Given the description of an element on the screen output the (x, y) to click on. 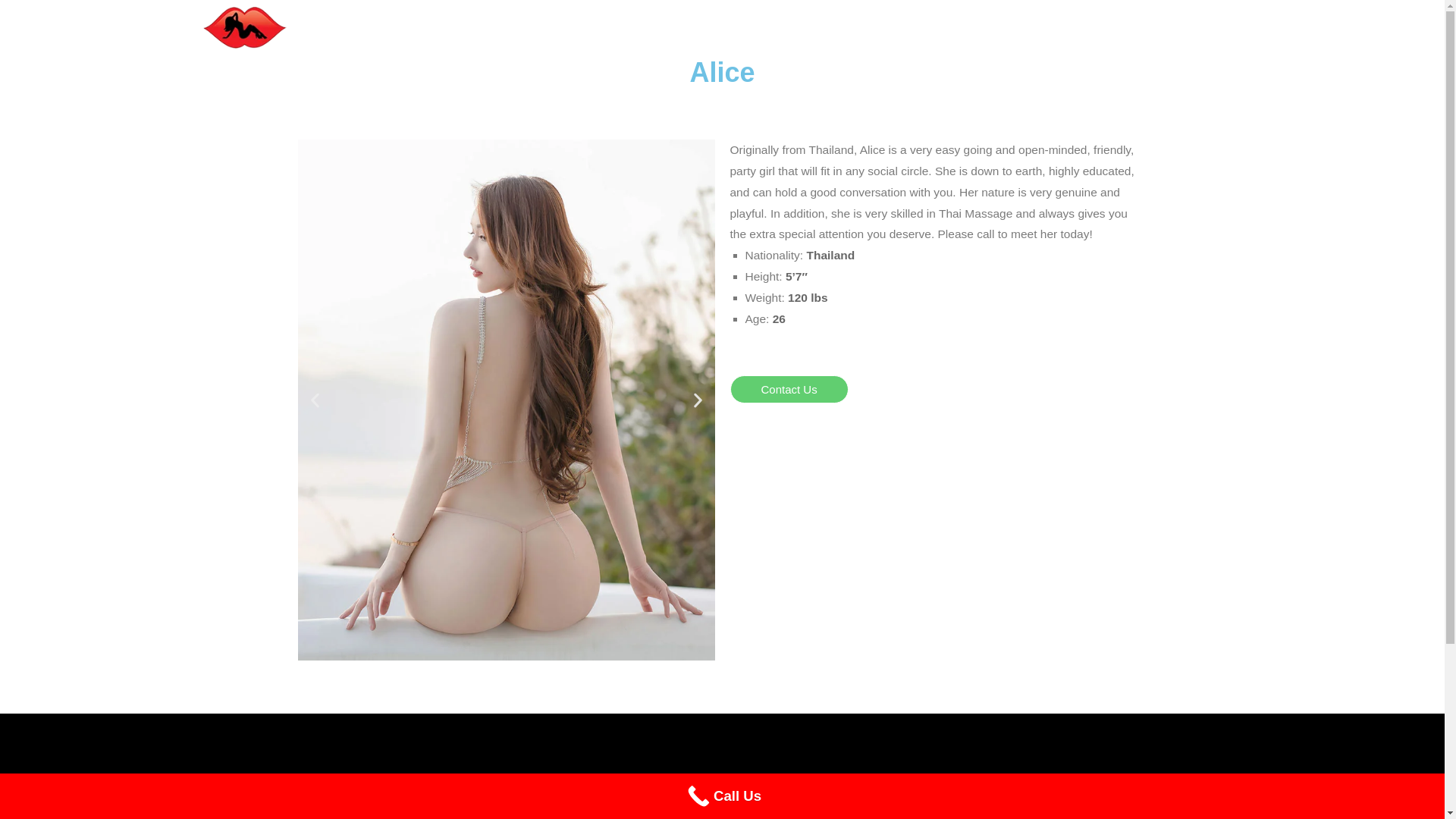
Contact Us (788, 389)
Home (997, 28)
Contact Us (1125, 28)
About Us (1055, 28)
